Given the description of an element on the screen output the (x, y) to click on. 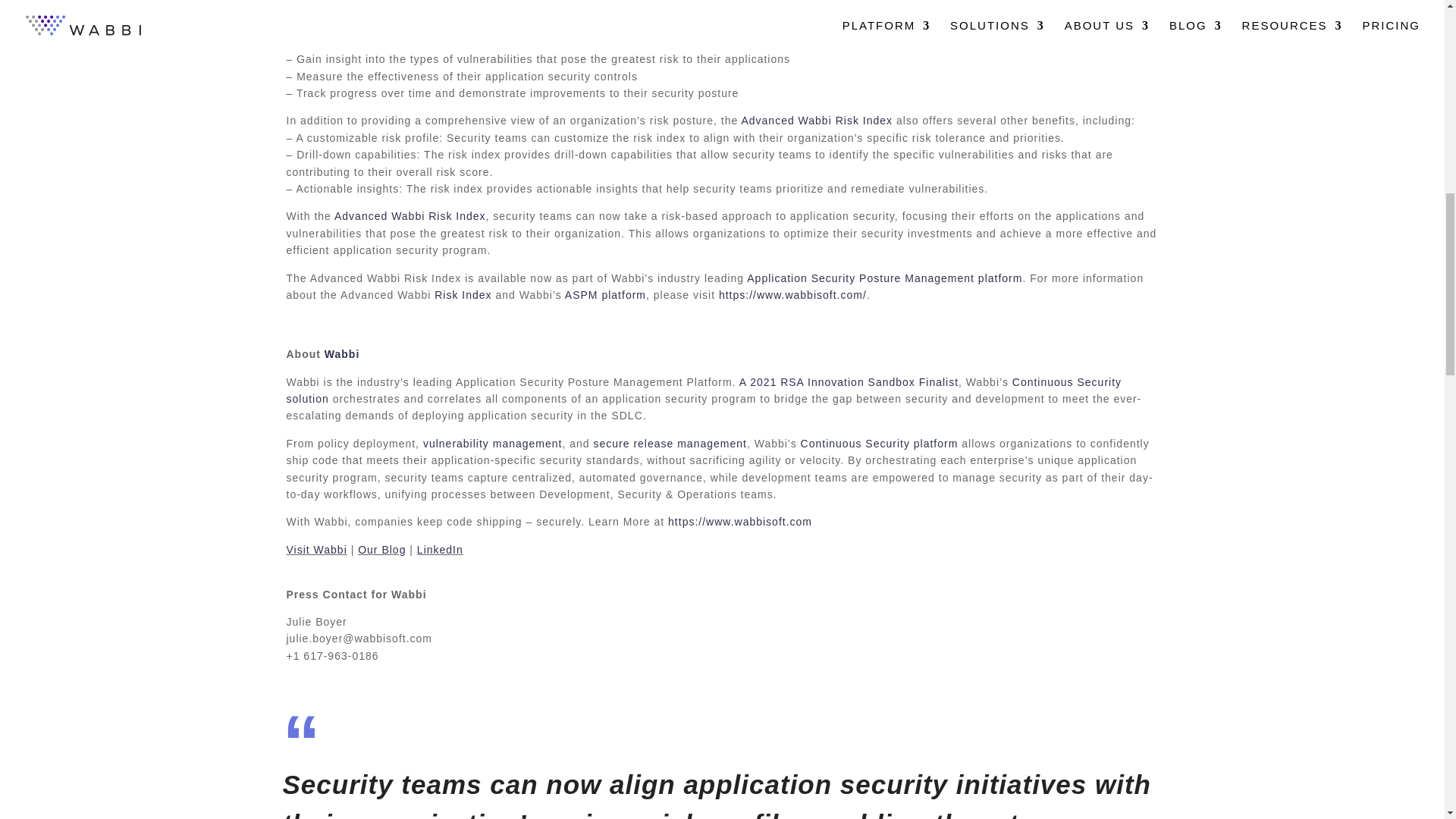
Risk Index (462, 295)
Application Security Posture Management platform (884, 277)
Advanced Wabbi Risk Index (815, 120)
Advanced Wabbi Risk Index (410, 215)
